Given the description of an element on the screen output the (x, y) to click on. 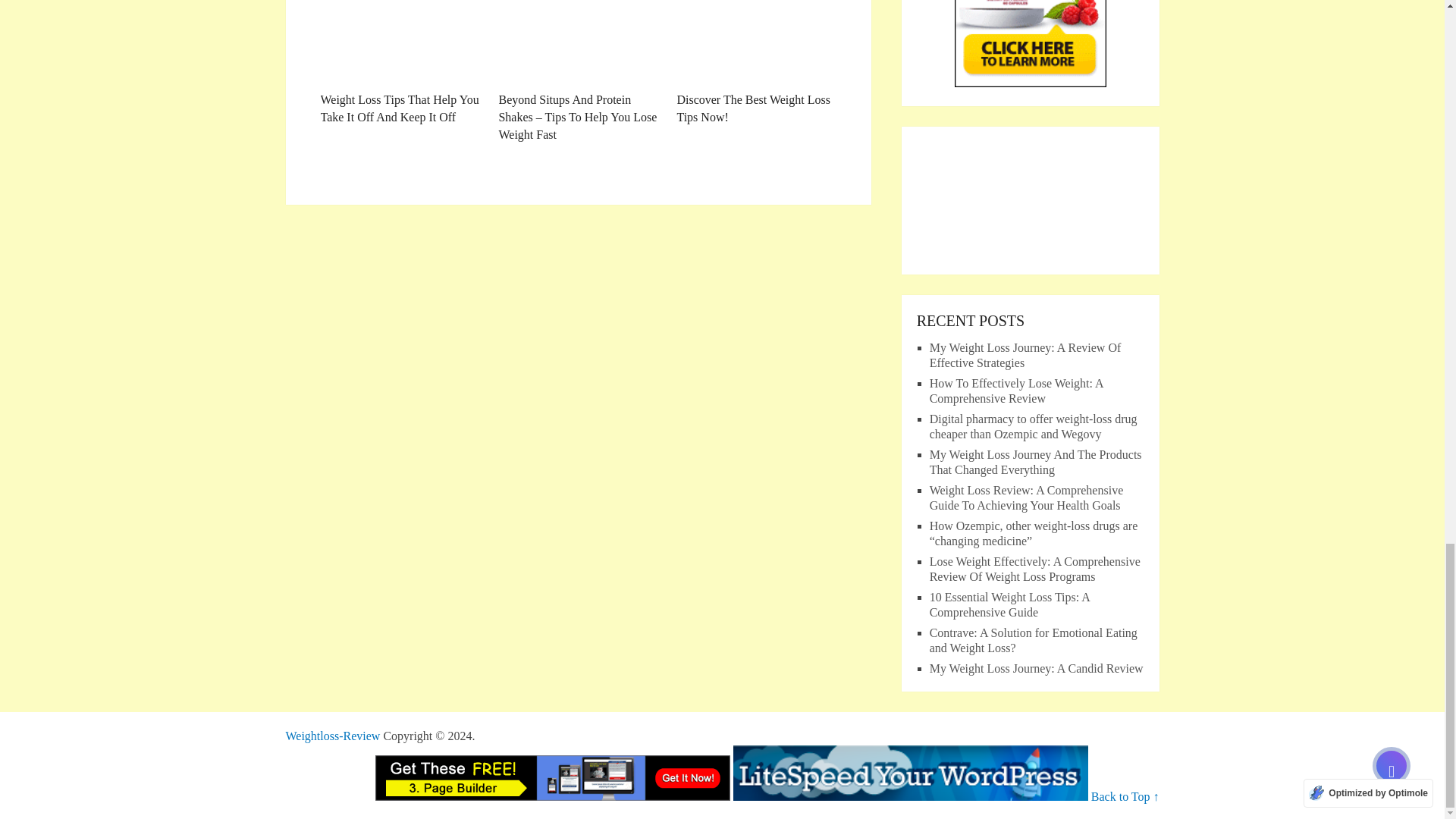
Contrave: A Solution for Emotional Eating and Weight Loss? (1033, 640)
10 Essential Weight Loss Tips: A Comprehensive Guide (1009, 604)
Discover The Best Weight Loss Tips Now! (756, 41)
Weight Loss Tips That Help You Take It Off And Keep It Off (399, 63)
Weightloss-Review (332, 735)
Discover The Best Weight Loss Tips Now! (756, 63)
Discover The Best Weight Loss Tips Now! (756, 63)
My Weight Loss Journey: A Candid Review (1036, 667)
